Given the description of an element on the screen output the (x, y) to click on. 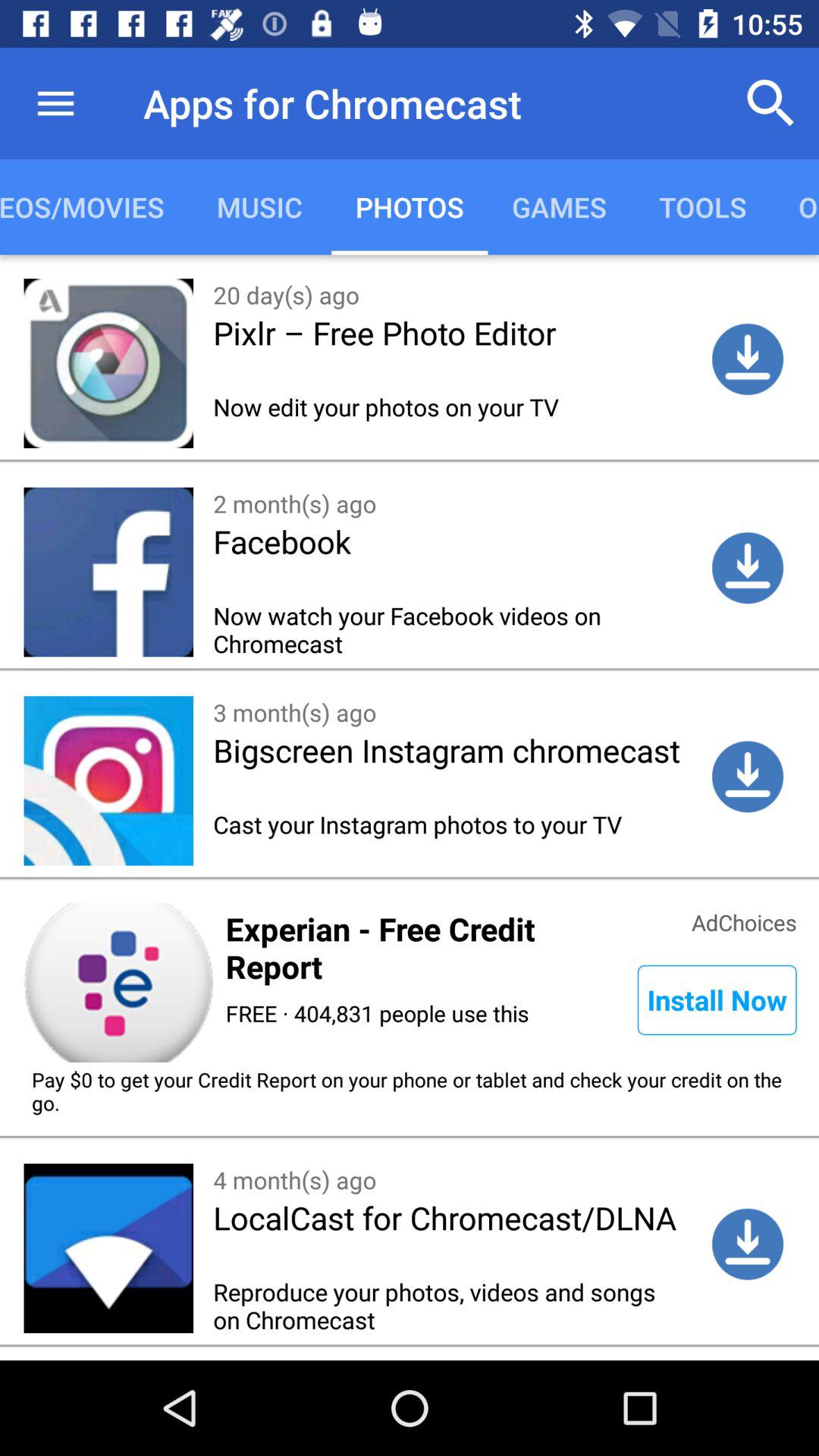
select item to the right of experian free credit app (743, 921)
